Given the description of an element on the screen output the (x, y) to click on. 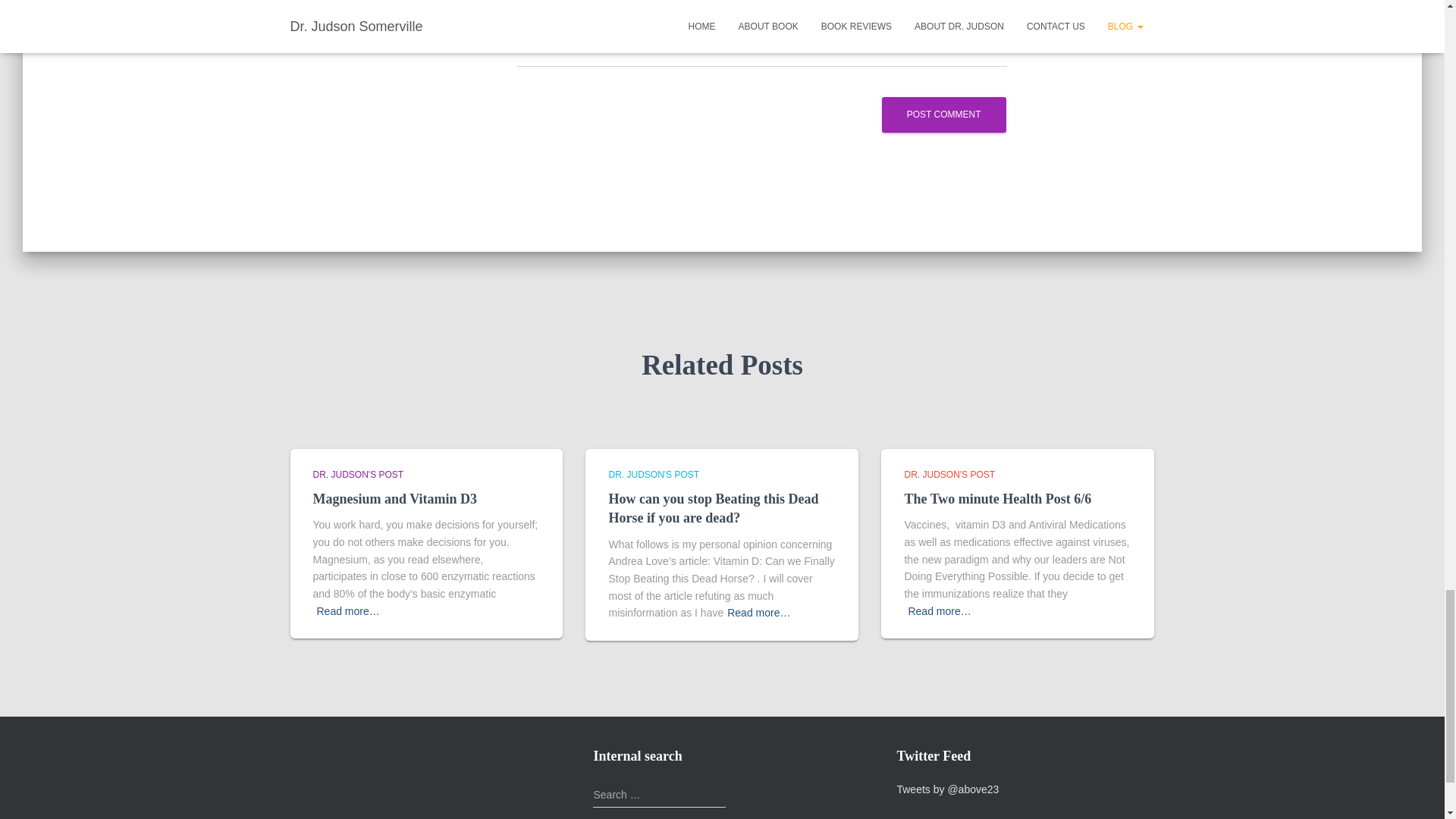
Post Comment (944, 114)
DR. JUDSON'S POST (358, 474)
DR. JUDSON'S POST (653, 474)
Magnesium and Vitamin D3 (395, 498)
Magnesium and Vitamin D3 (395, 498)
Post Comment (944, 114)
How can you stop Beating this Dead Horse if you are dead? (713, 508)
View all posts in Dr. Judson's post (653, 474)
Validate my RSS feed (322, 750)
DR. JUDSON'S POST (949, 474)
How can you stop Beating this Dead Horse if you are dead? (713, 508)
View all posts in Dr. Judson's post (358, 474)
View all posts in Dr. Judson's post (949, 474)
